Given the description of an element on the screen output the (x, y) to click on. 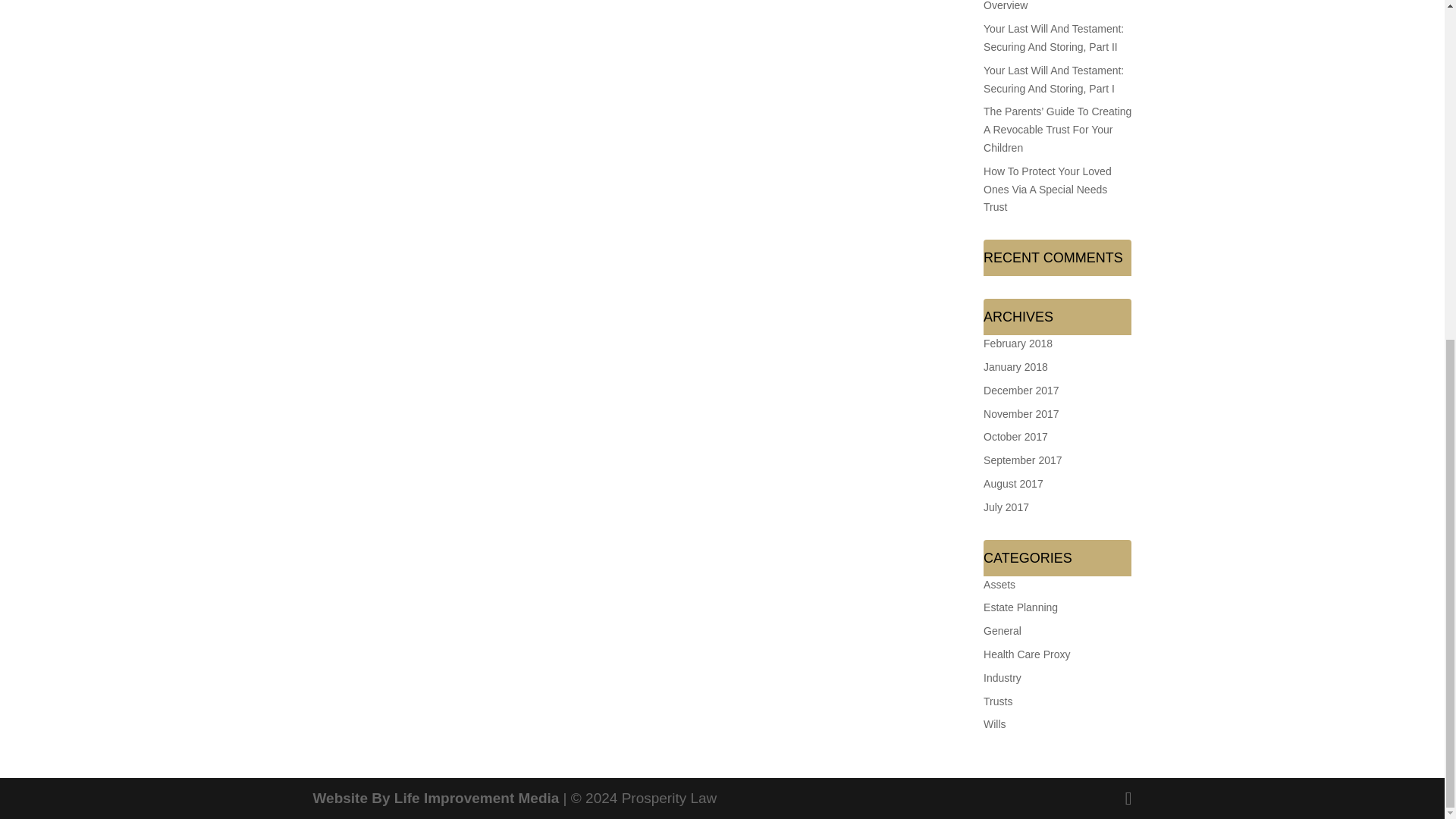
Your Last Will And Testament: Securing And Storing, Part II (1054, 37)
How To Protect Your Loved Ones Via A Special Needs Trust (1048, 189)
Your Last Will And Testament: Securing And Storing, Part I (1054, 79)
Charitable Trusts, Part I: The Overview (1051, 6)
